Given the description of an element on the screen output the (x, y) to click on. 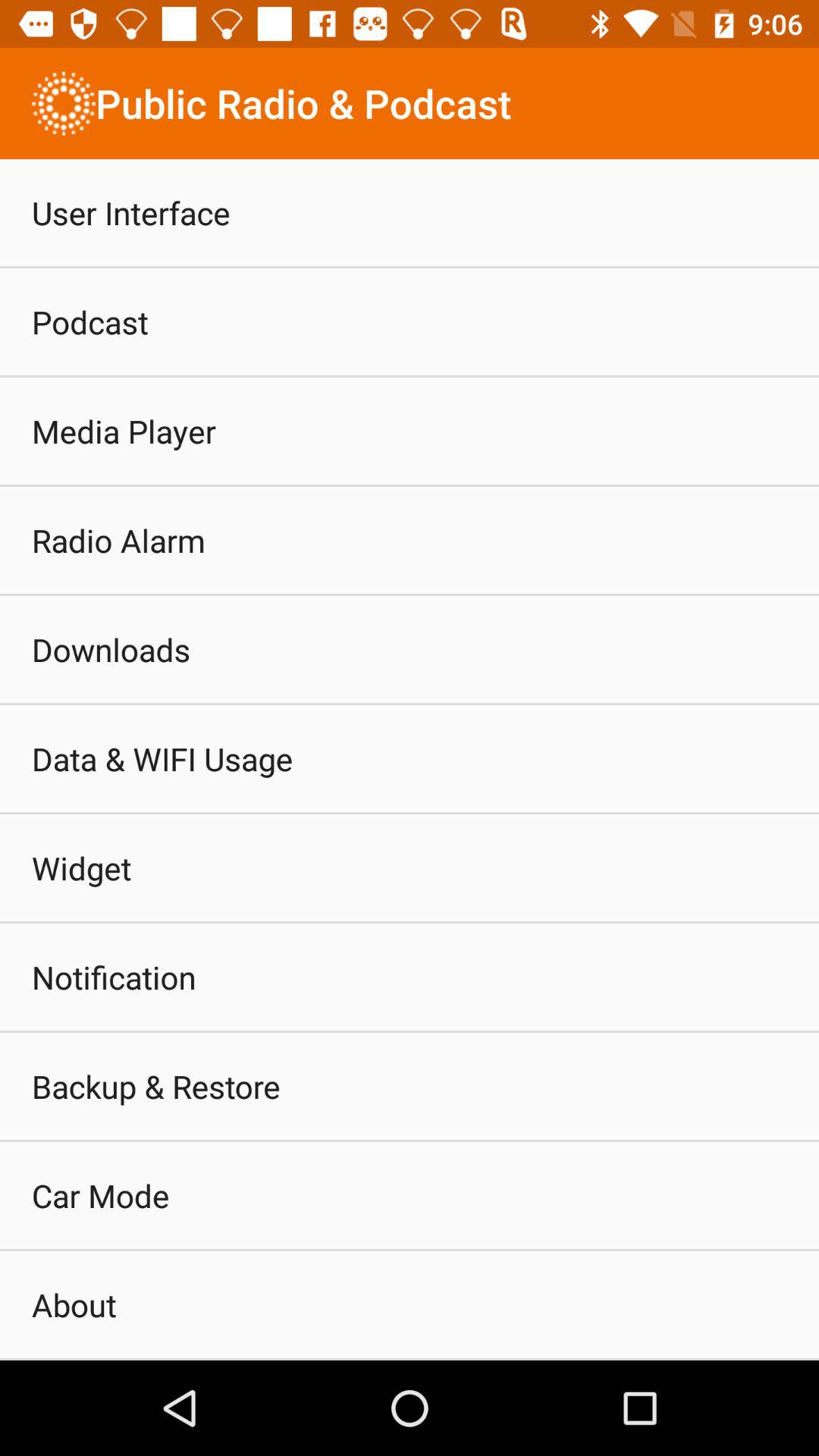
choose app below the data & wifi usage (81, 867)
